Given the description of an element on the screen output the (x, y) to click on. 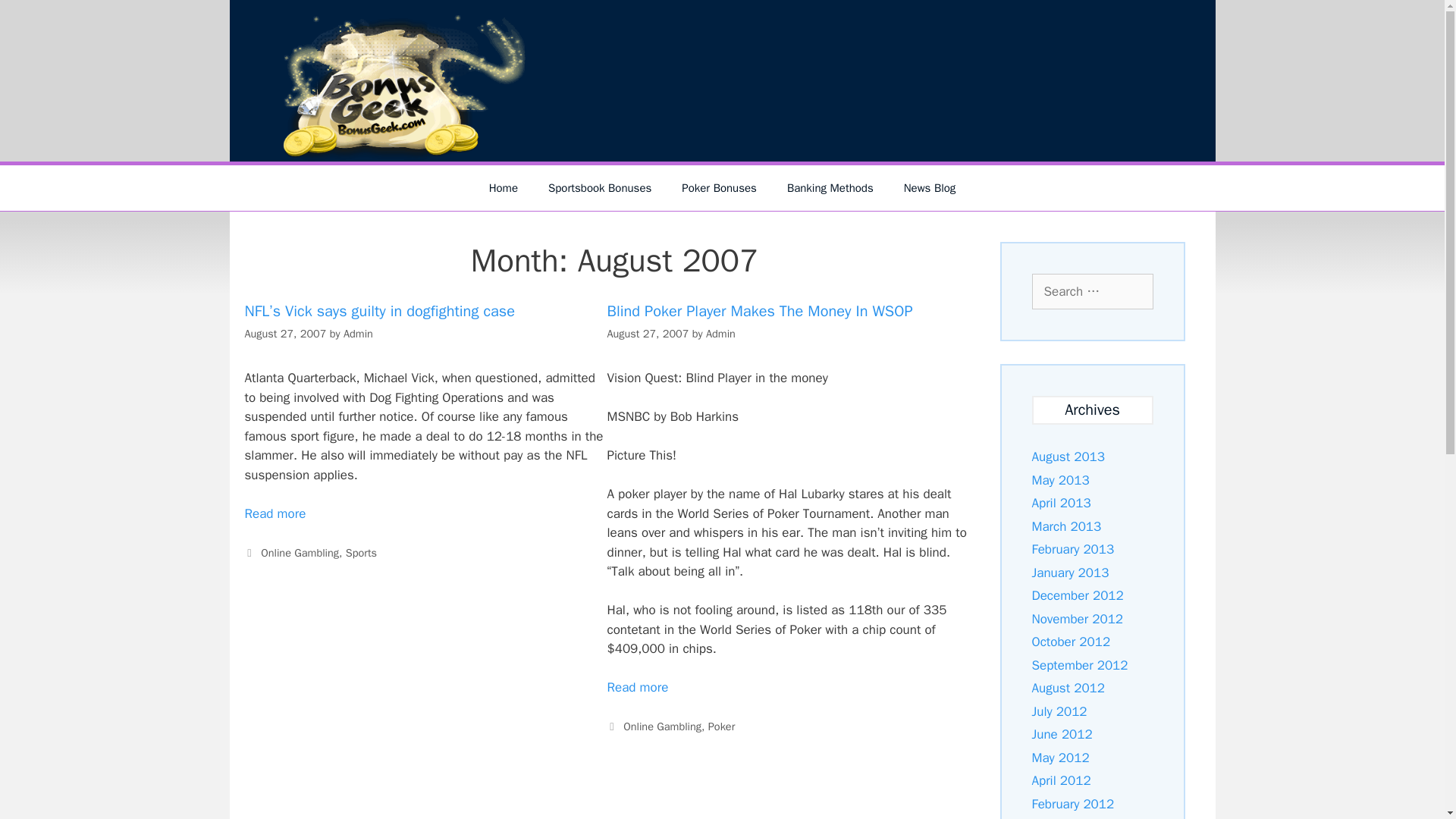
Poker (721, 726)
Blind Poker Player Makes The Money In WSOP (759, 311)
View all posts by Admin (720, 333)
January 2013 (1069, 572)
August 2012 (1066, 688)
Online Gambling (662, 726)
Admin (357, 333)
Search (35, 18)
Sports (361, 552)
Banking Methods (829, 187)
Home (503, 187)
View all posts by Admin (357, 333)
Online Gambling (299, 552)
Read more (637, 687)
February 2013 (1071, 549)
